Given the description of an element on the screen output the (x, y) to click on. 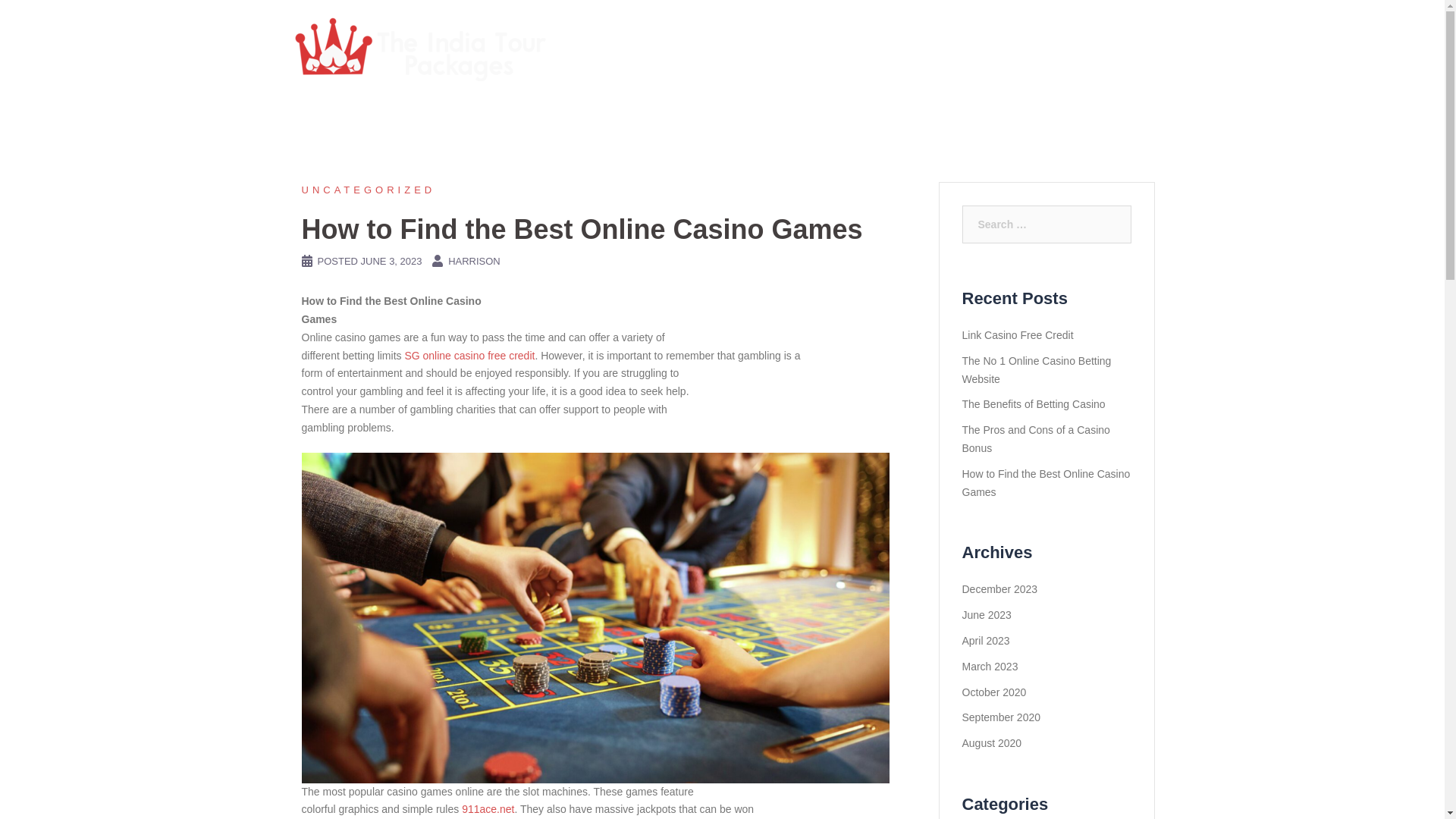
March 2023 (988, 666)
Blog (997, 48)
Uncategorized (368, 189)
Search (47, 18)
Link Casino Free Credit (1016, 335)
December 2023 (998, 589)
The No 1 Online Casino Betting Website (1035, 369)
The Pros and Cons of a Casino Bonus (1034, 439)
The India Tour Packages (420, 46)
UNCATEGORIZED (368, 189)
April 2023 (984, 640)
Legal Policy (1057, 48)
June 2023 (985, 614)
September 2020 (1000, 717)
